Given the description of an element on the screen output the (x, y) to click on. 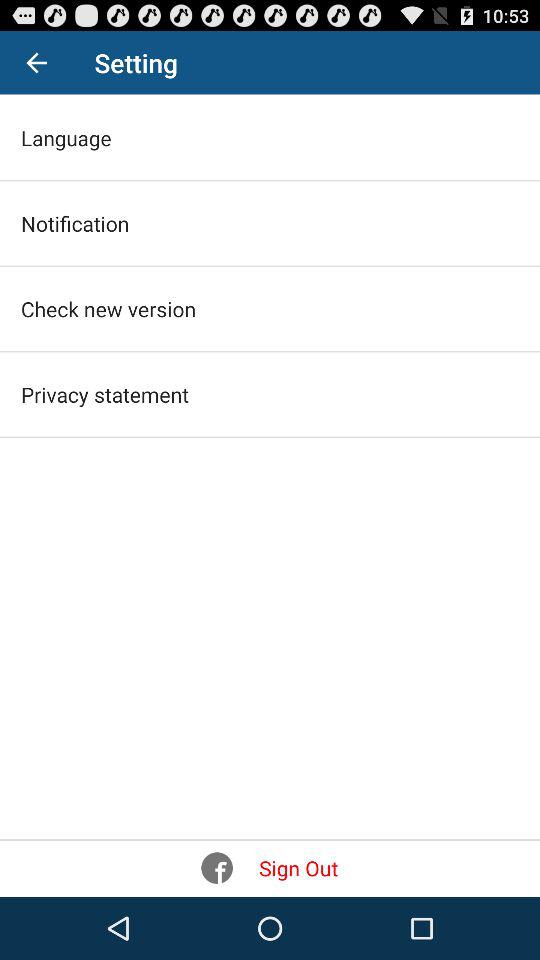
turn off language item (66, 137)
